Given the description of an element on the screen output the (x, y) to click on. 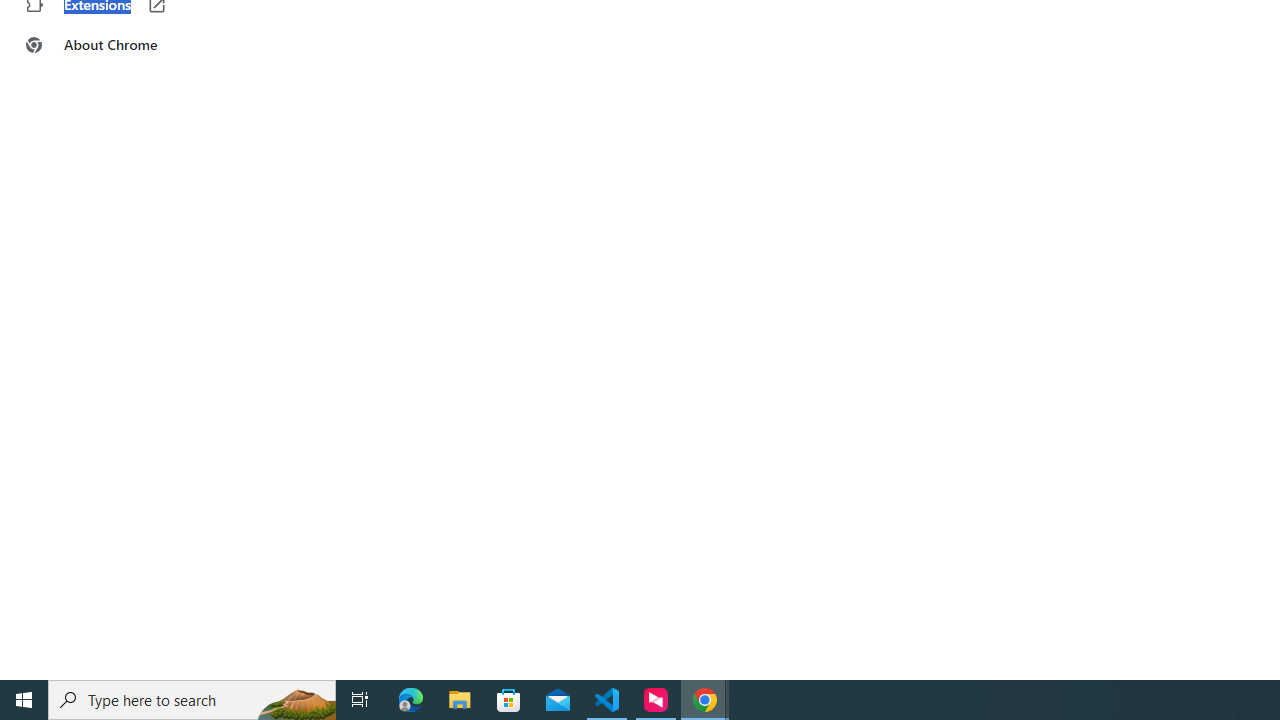
About Chrome (124, 44)
